Given the description of an element on the screen output the (x, y) to click on. 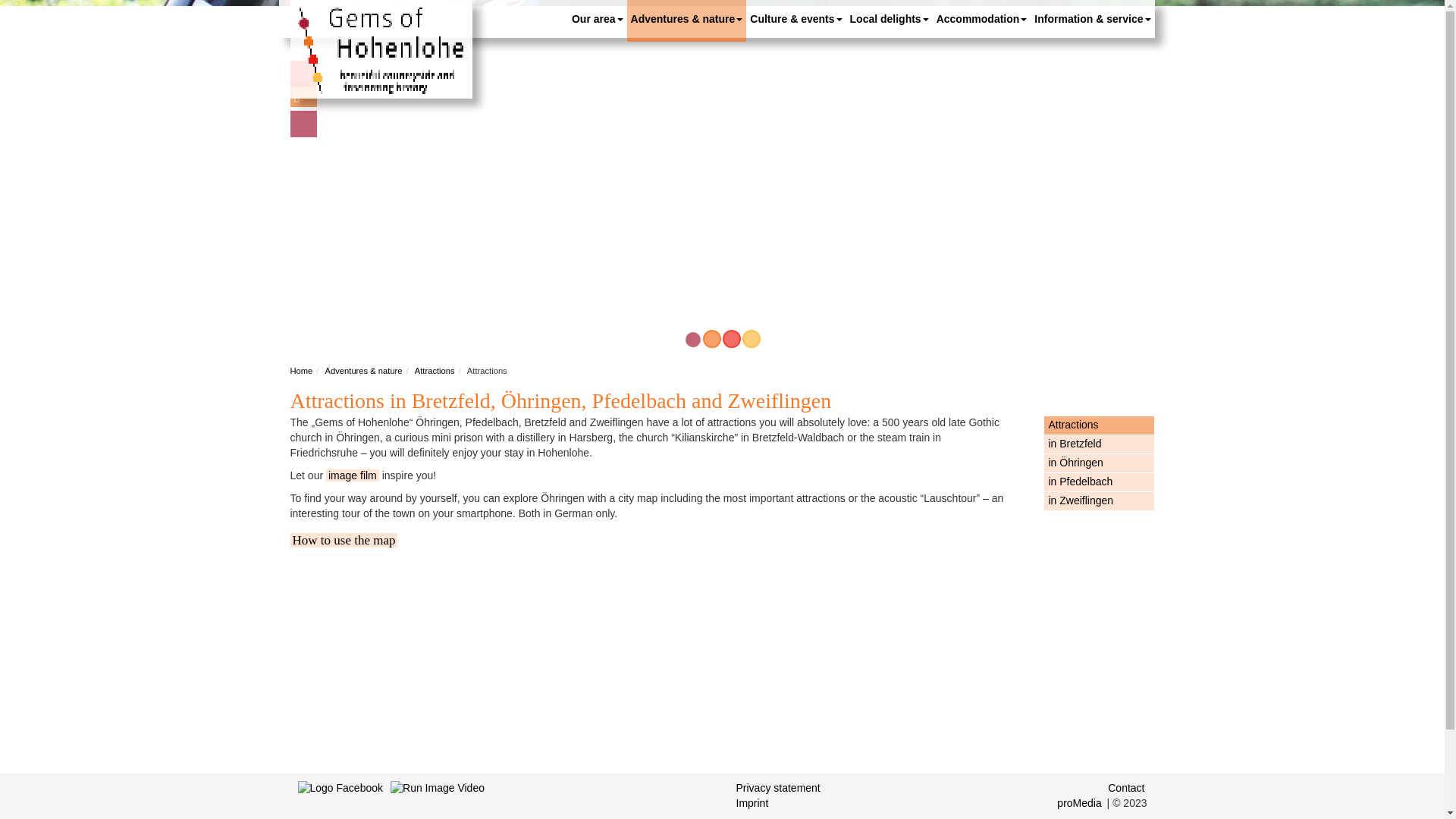
Design and development proMedia (1080, 802)
Accommodation (981, 18)
See privacy statement (777, 787)
Image Video (437, 800)
Local delights (889, 18)
See Imprint (752, 802)
Our area (597, 18)
Contact (1126, 787)
How to use the mapn (343, 540)
See us on facebook (339, 800)
